Given the description of an element on the screen output the (x, y) to click on. 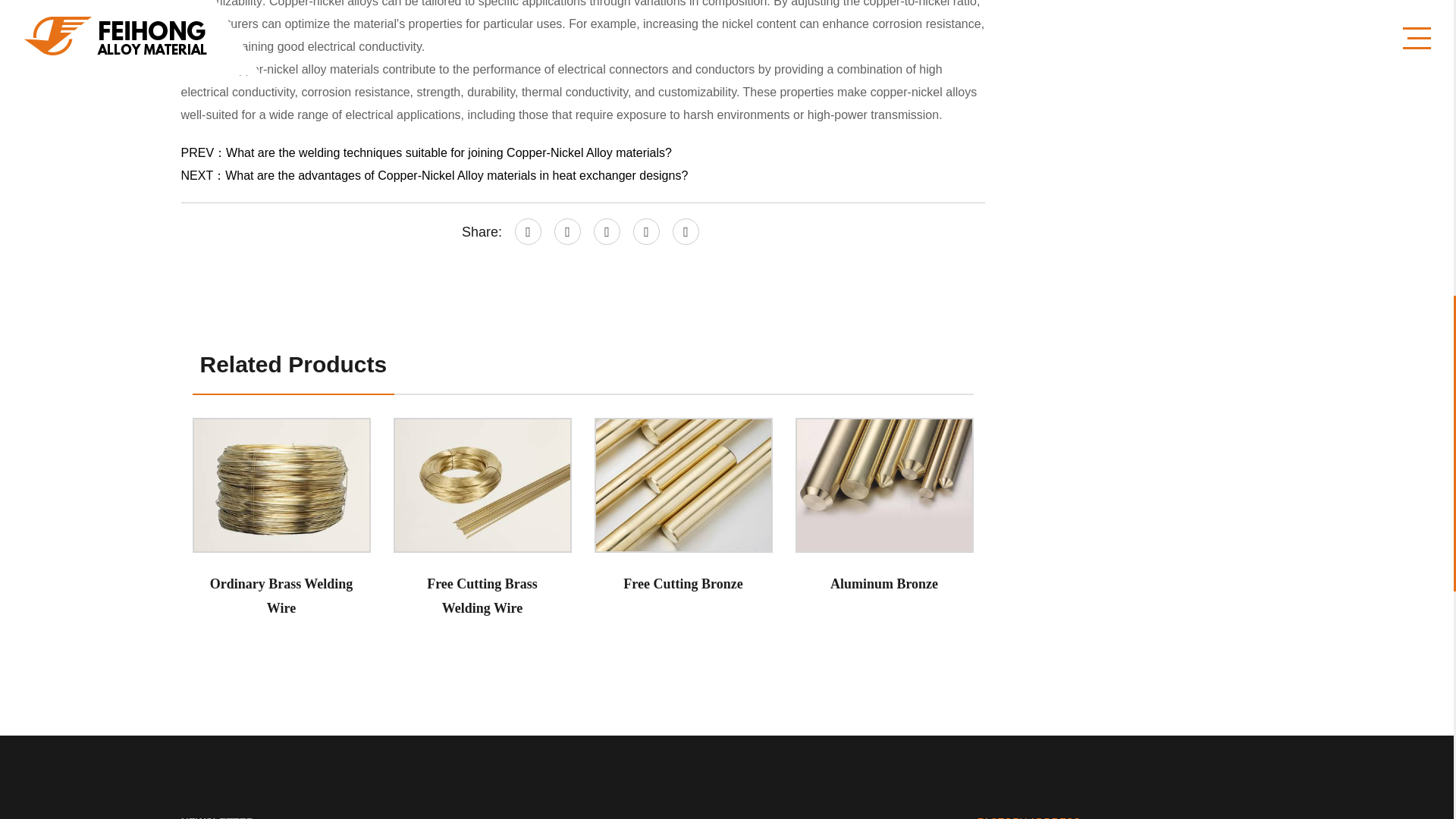
Free Cutting Bronze (683, 485)
Ordinary Brass Welding  Wire (281, 485)
Free Cutting Brass Welding  Wire (481, 485)
Aluminum Bronze (883, 485)
